Given the description of an element on the screen output the (x, y) to click on. 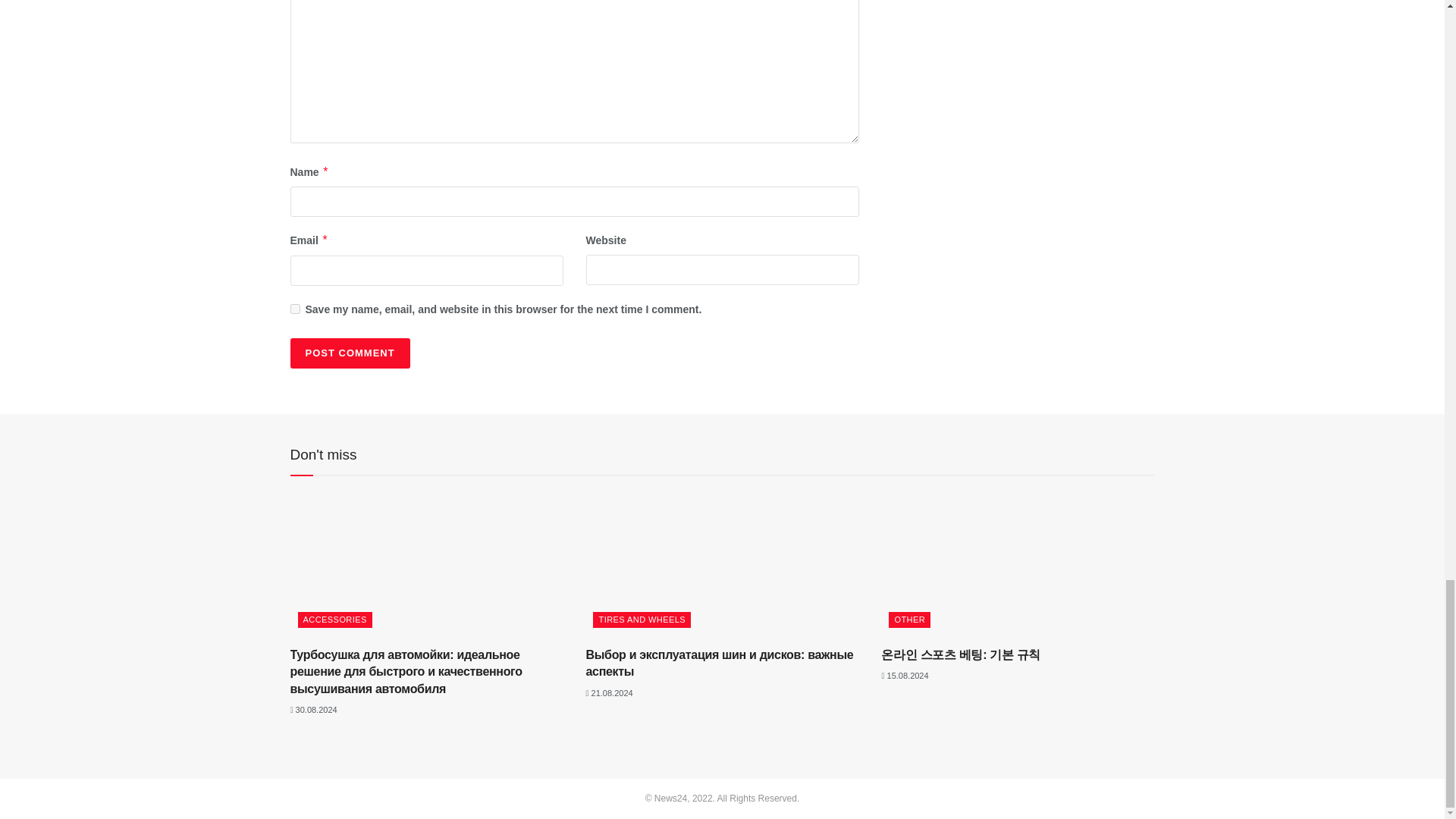
yes (294, 308)
Post Comment (349, 353)
Post Comment (349, 353)
